Given the description of an element on the screen output the (x, y) to click on. 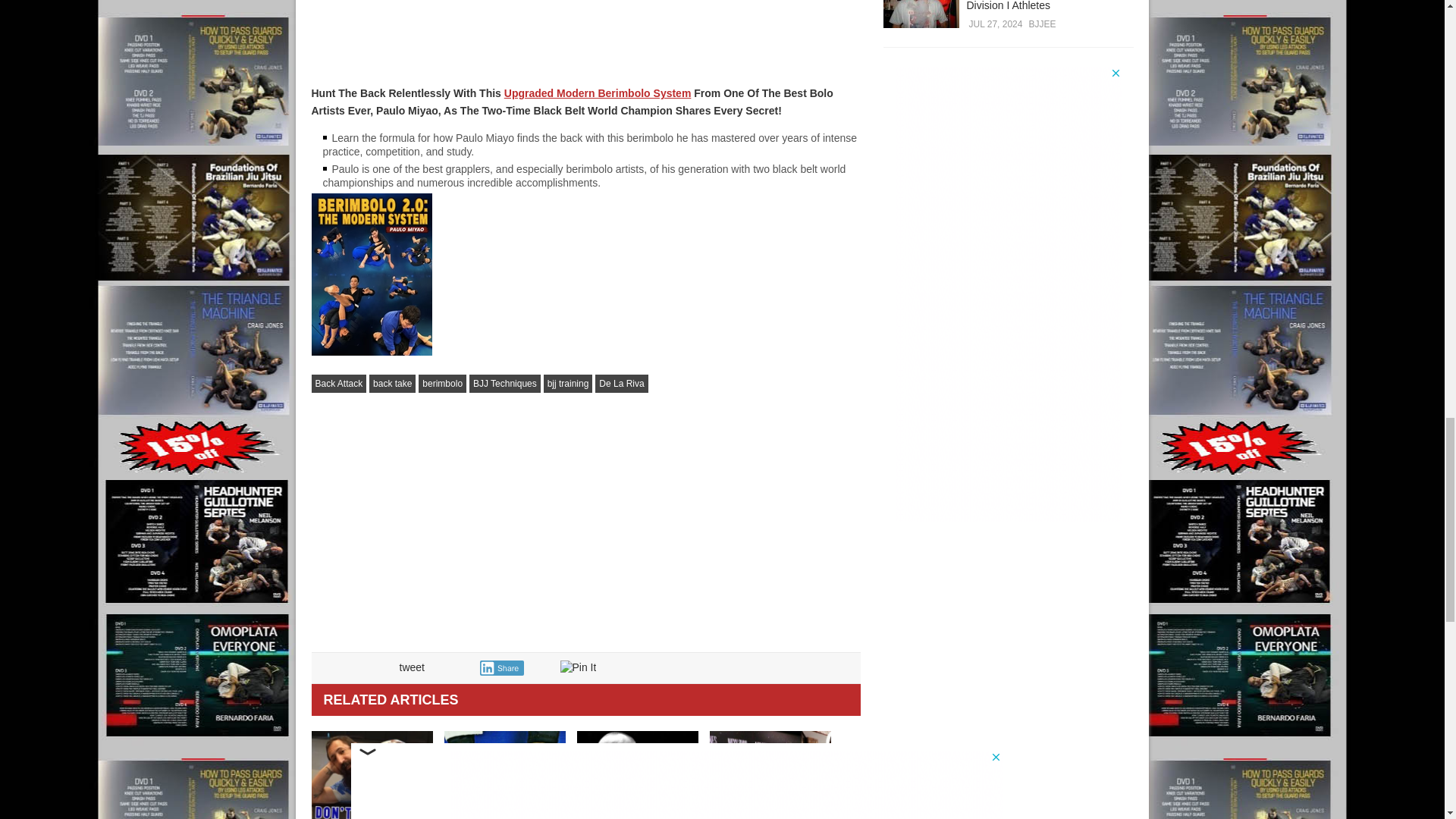
Upgraded Modern Berimbolo System (597, 92)
BJJ Techniques (504, 383)
bjj training (567, 383)
Pin It (577, 667)
Back Attack (338, 383)
berimbolo (442, 383)
De La Riva (621, 383)
back take (391, 383)
